Given the description of an element on the screen output the (x, y) to click on. 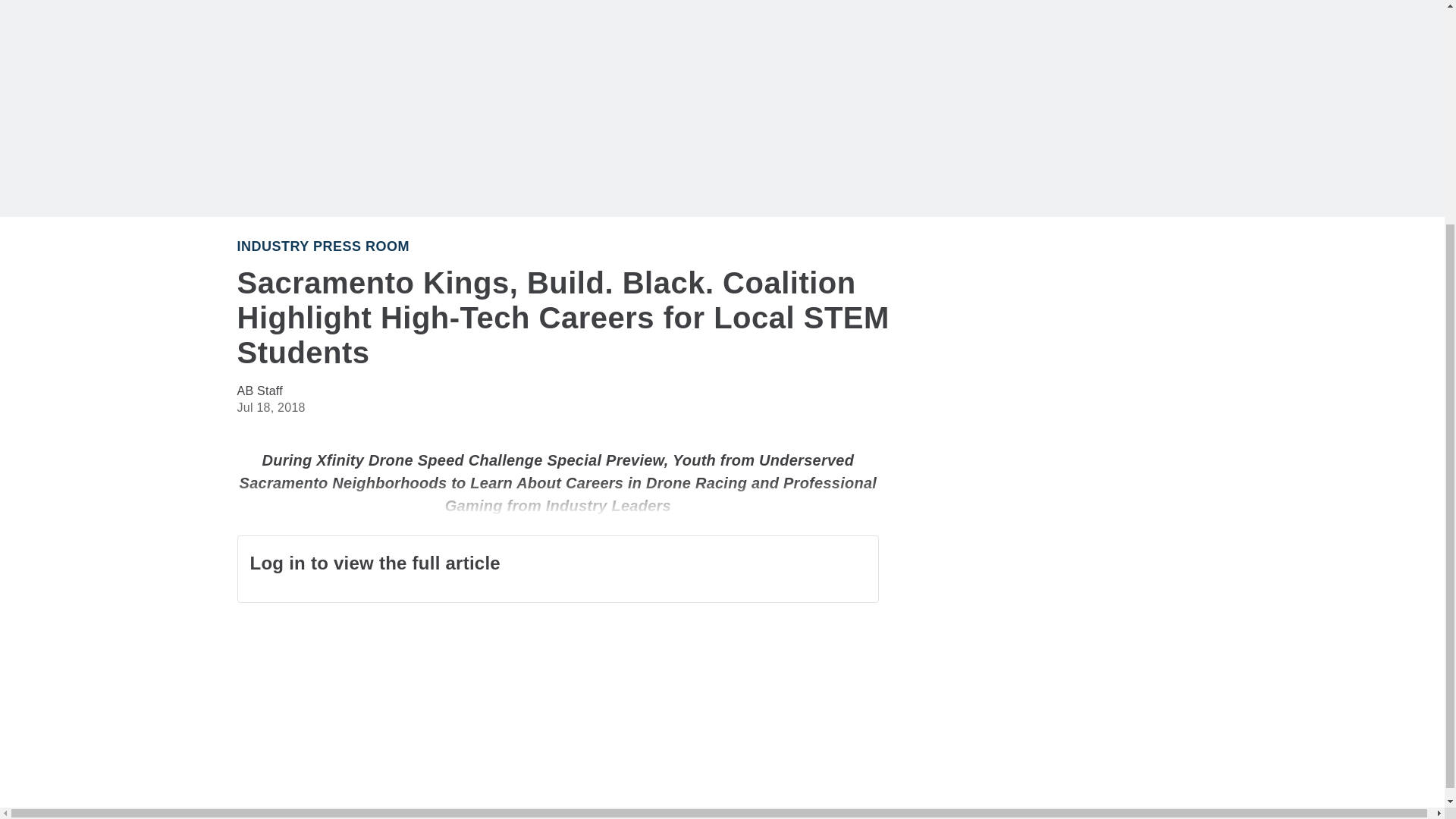
Industry Press Room (322, 246)
